Given the description of an element on the screen output the (x, y) to click on. 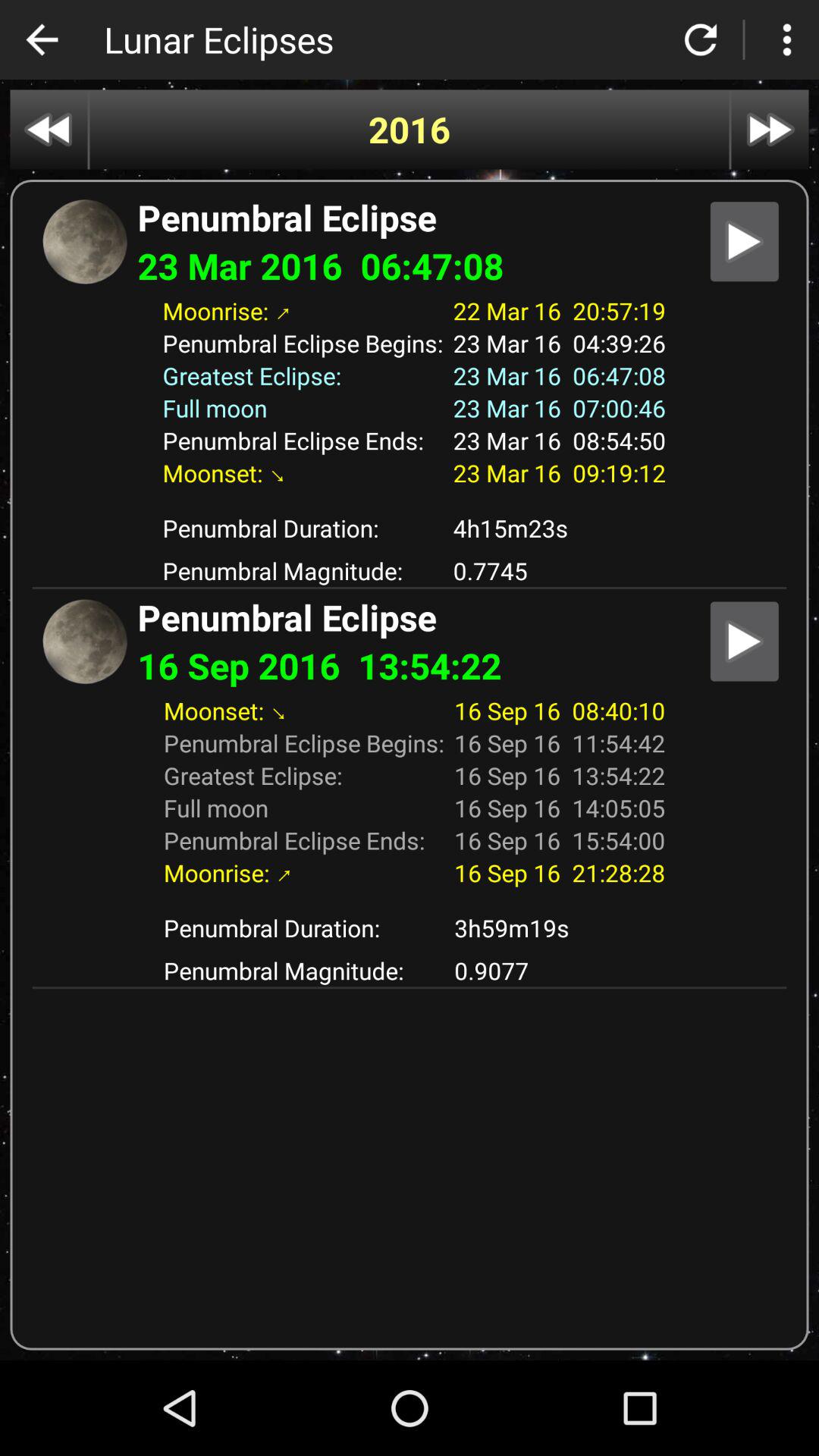
check next year (769, 129)
